Given the description of an element on the screen output the (x, y) to click on. 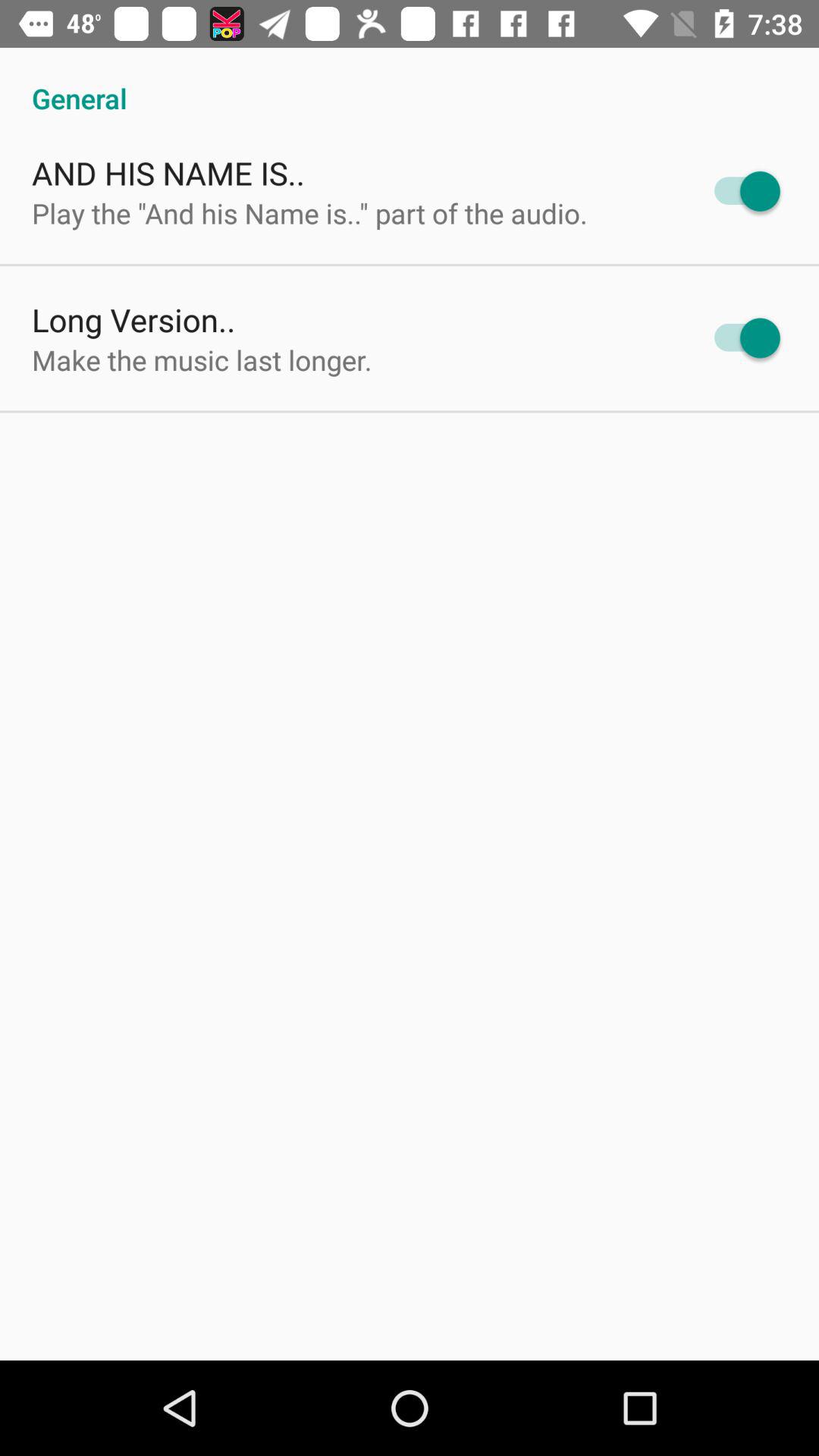
scroll until make the music icon (201, 359)
